Given the description of an element on the screen output the (x, y) to click on. 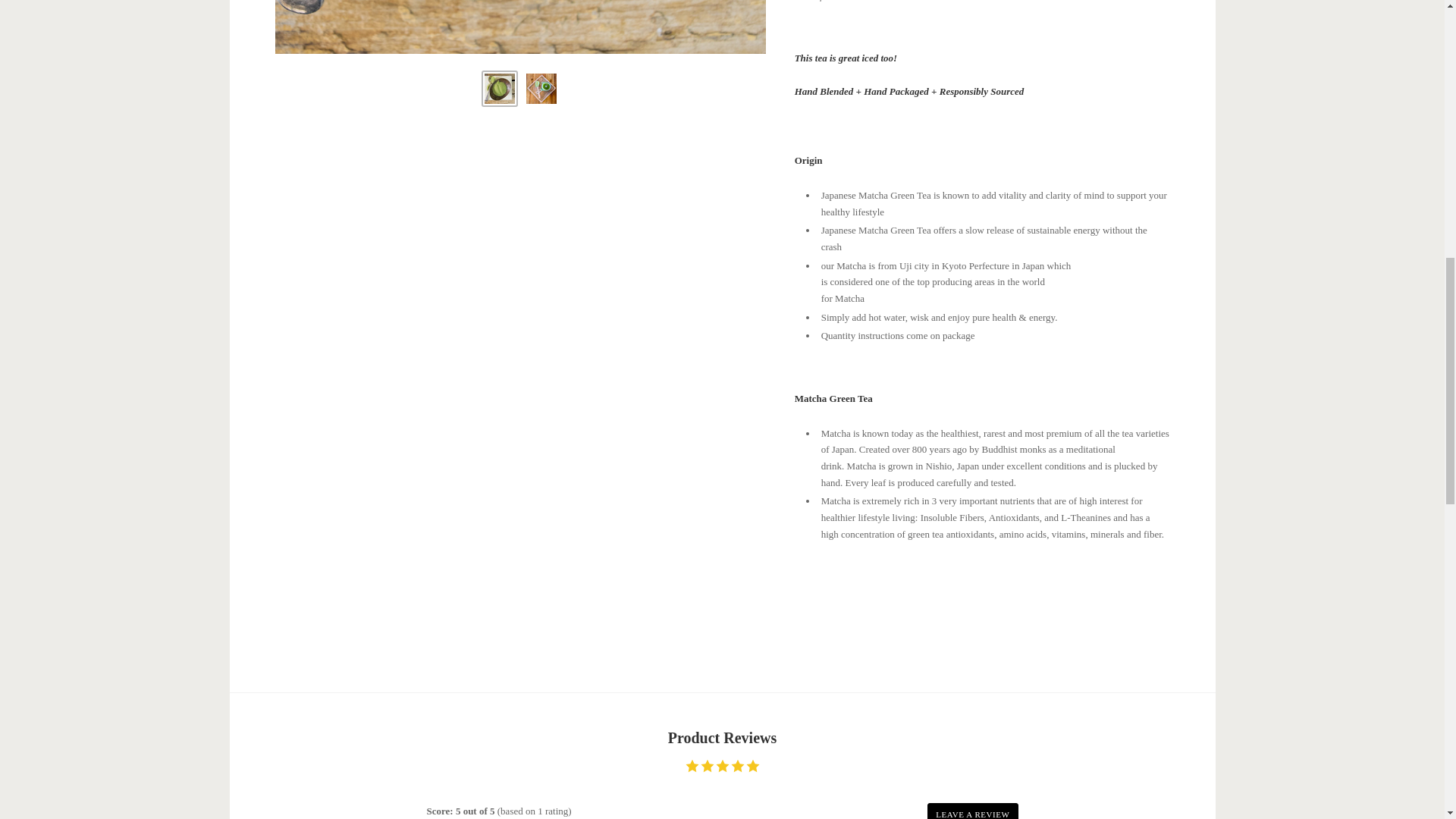
108 Simply Sweet Matcha Tea (499, 88)
108 Simply Sweet Matcha Tea (540, 88)
108 Simply Sweet Matcha Tea (520, 27)
